Given the description of an element on the screen output the (x, y) to click on. 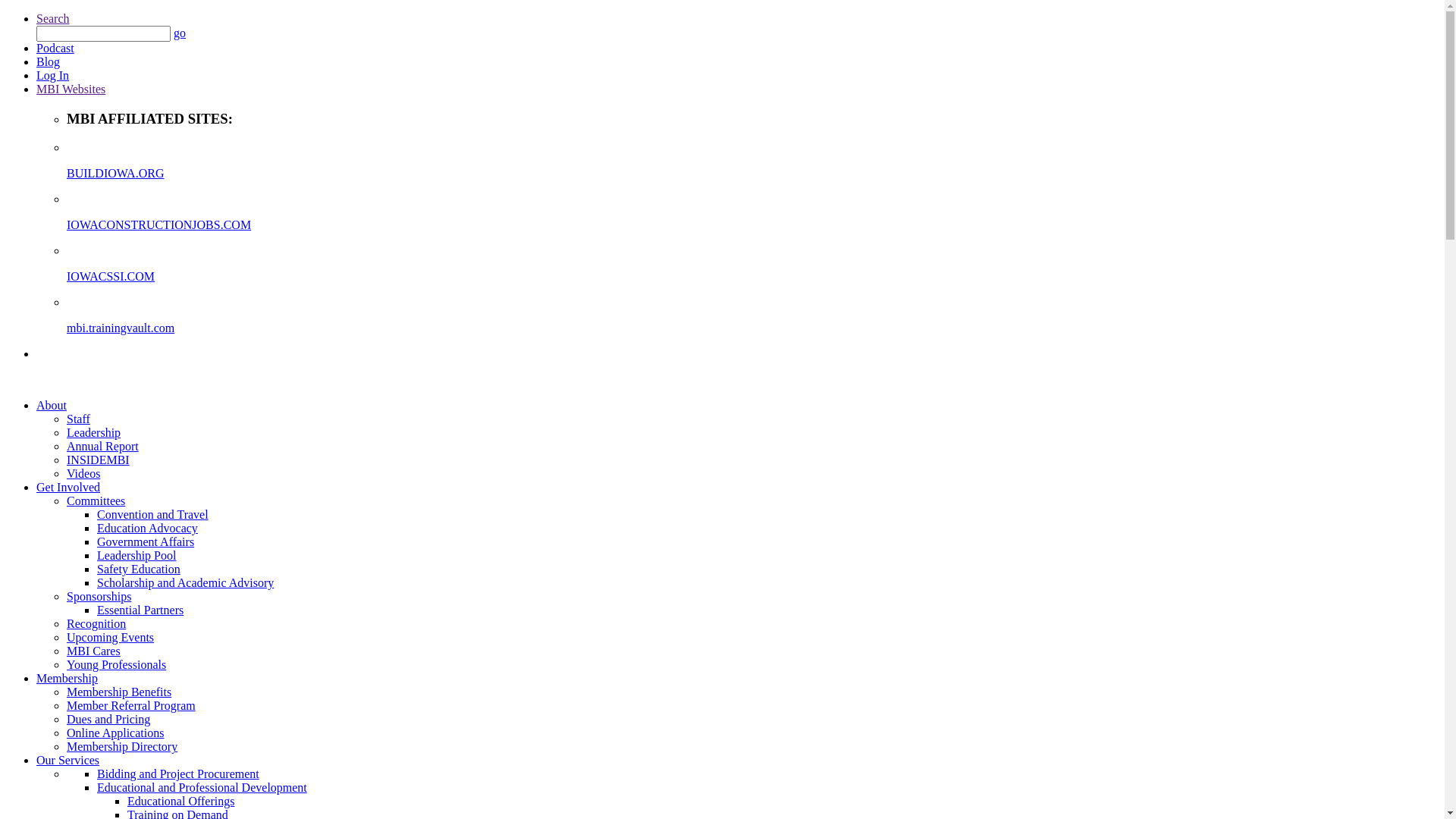
Dues and Pricing Element type: text (108, 718)
go Element type: text (179, 32)
Recognition Element type: text (95, 623)
Membership Element type: text (66, 677)
IOWACONSTRUCTIONJOBS.COM Element type: text (752, 237)
Annual Report Element type: text (102, 445)
MBI Cares Element type: text (93, 650)
Committees Element type: text (95, 500)
Log In Element type: text (52, 75)
Leadership Pool Element type: text (136, 555)
Get Involved Element type: text (68, 486)
Search Element type: text (52, 18)
Our Services Element type: text (67, 759)
BUILDIOWA.ORG Element type: text (752, 186)
Scholarship and Academic Advisory Element type: text (185, 582)
Educational Offerings Element type: text (180, 800)
MBI Websites Element type: text (70, 88)
Membership Directory Element type: text (121, 746)
Convention and Travel Element type: text (152, 514)
mbi.trainingvault.com Element type: text (752, 340)
Online Applications Element type: text (114, 732)
Staff Element type: text (78, 418)
Government Affairs Element type: text (145, 541)
Blog Element type: text (47, 61)
Leadership Element type: text (93, 432)
Sponsorships Element type: text (98, 595)
IOWACSSI.COM Element type: text (752, 289)
Safety Education Element type: text (138, 568)
Educational and Professional Development Element type: text (202, 787)
Podcast Element type: text (55, 47)
Member Referral Program Element type: text (130, 705)
Upcoming Events Element type: text (109, 636)
Essential Partners Element type: text (140, 609)
Membership Benefits Element type: text (118, 691)
About Element type: text (51, 404)
Education Advocacy Element type: text (147, 527)
Young Professionals Element type: text (116, 664)
Bidding and Project Procurement Element type: text (178, 773)
INSIDEMBI Element type: text (97, 459)
Videos Element type: text (83, 473)
